Given the description of an element on the screen output the (x, y) to click on. 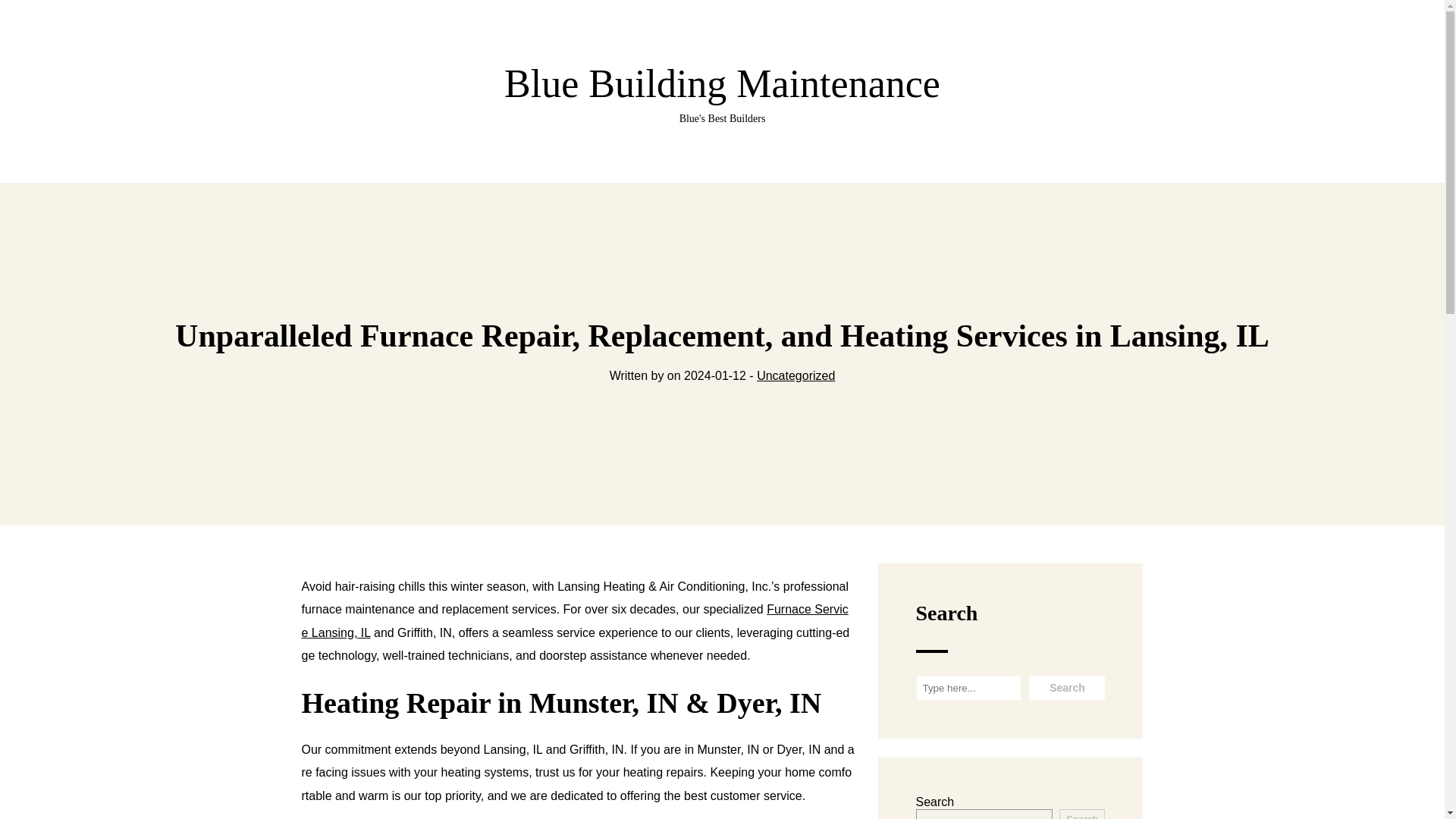
Uncategorized (795, 375)
Search (721, 94)
Search (1067, 687)
Search (1067, 687)
Blue Building Maintenance (1082, 814)
Furnace Service Lansing, IL (721, 94)
Search (574, 620)
